Given the description of an element on the screen output the (x, y) to click on. 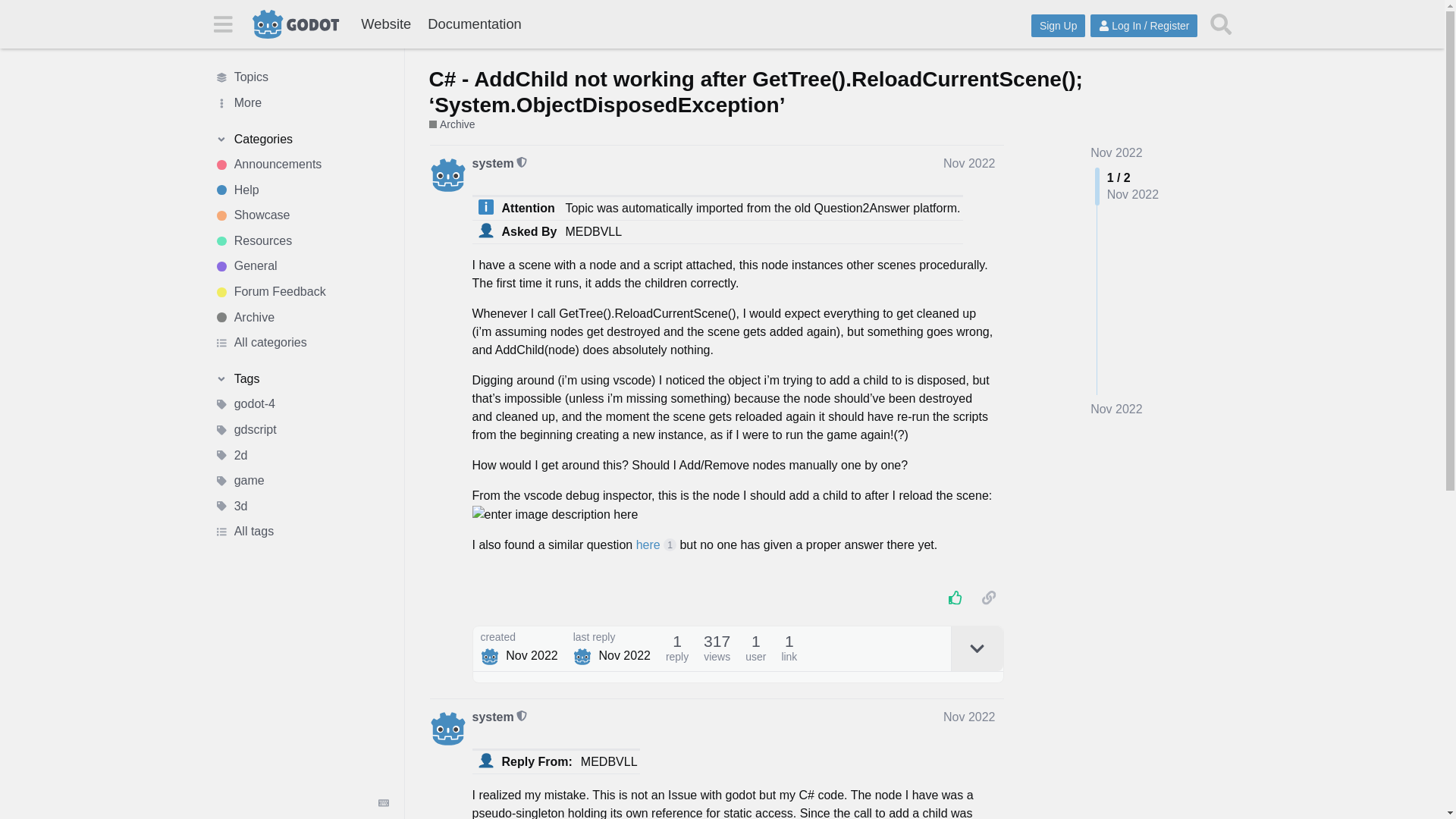
All topics (301, 77)
Website (385, 23)
Sign Up (1057, 25)
More (301, 103)
Announcements (301, 164)
Go to the Godot Documentation (474, 23)
system (492, 162)
Showcase (301, 216)
